Given the description of an element on the screen output the (x, y) to click on. 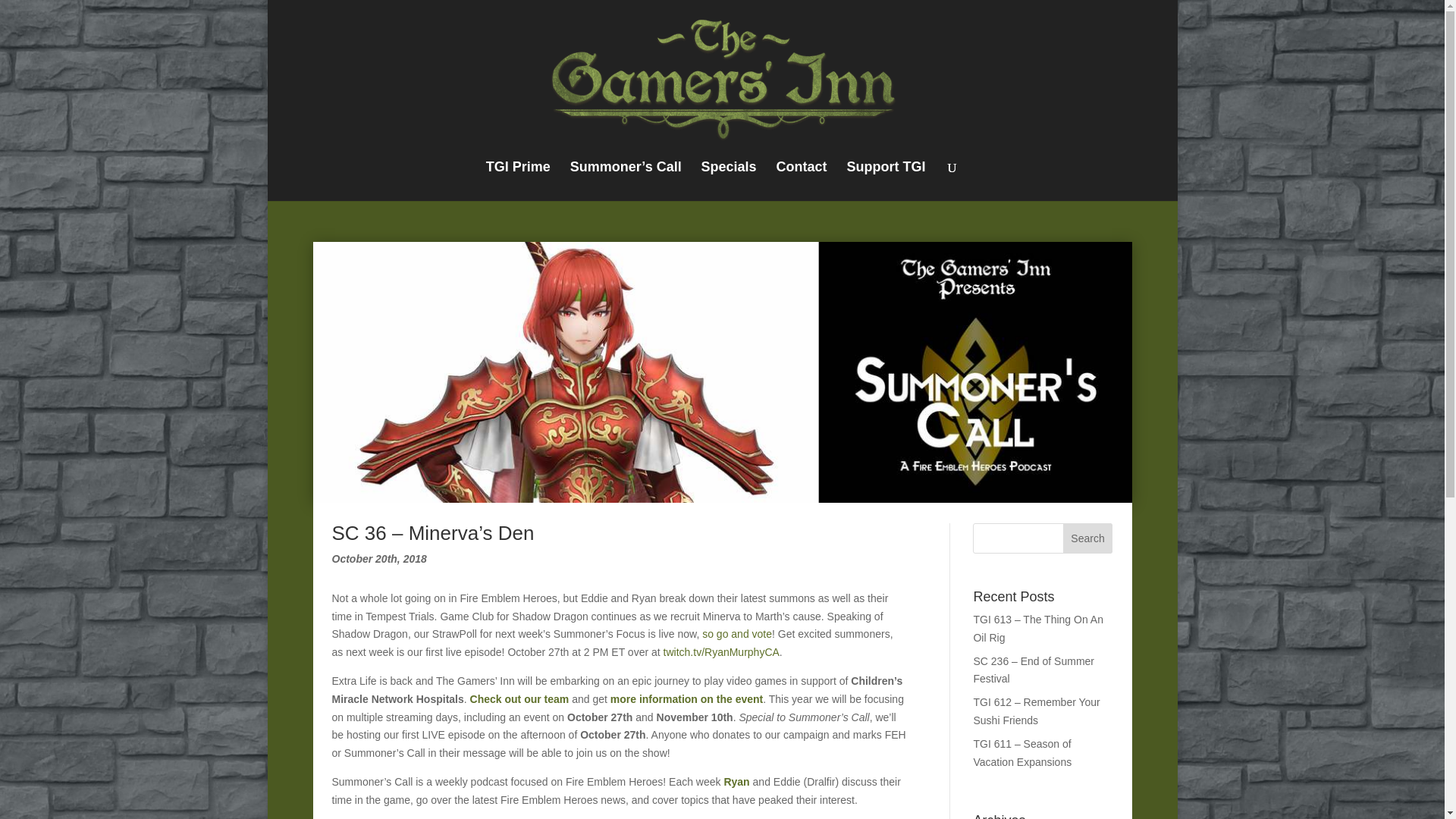
TGI Prime (518, 180)
so go and vote (736, 633)
Support TGI (884, 180)
Check out our team (519, 698)
Specials (729, 180)
Search (1087, 538)
more information on the event (686, 698)
Contact (801, 180)
Ryan (736, 781)
